Given the description of an element on the screen output the (x, y) to click on. 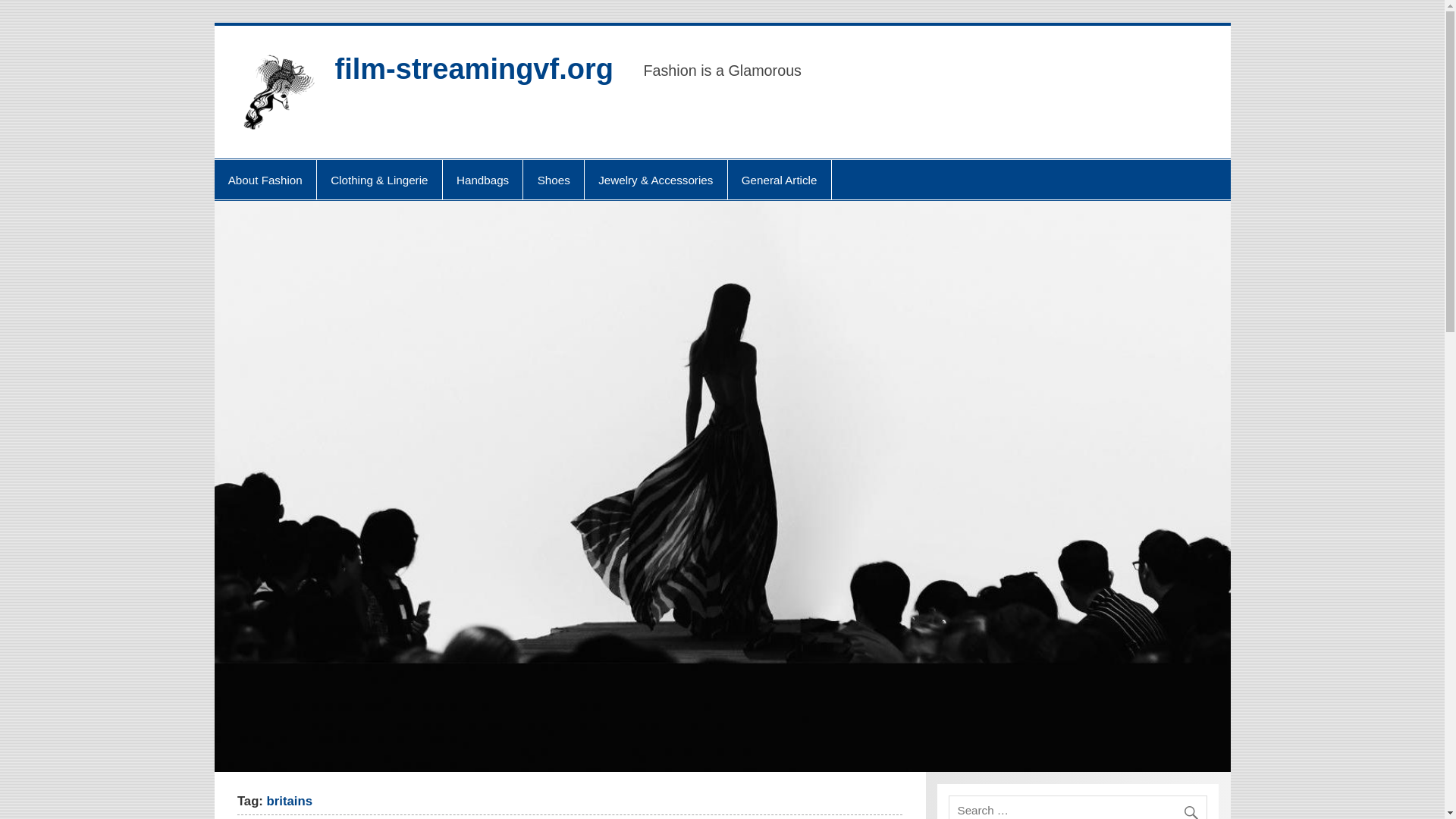
Handbags (482, 179)
film-streamingvf.org (473, 69)
Shoes (552, 179)
About Fashion (264, 179)
General Article (779, 179)
